Given the description of an element on the screen output the (x, y) to click on. 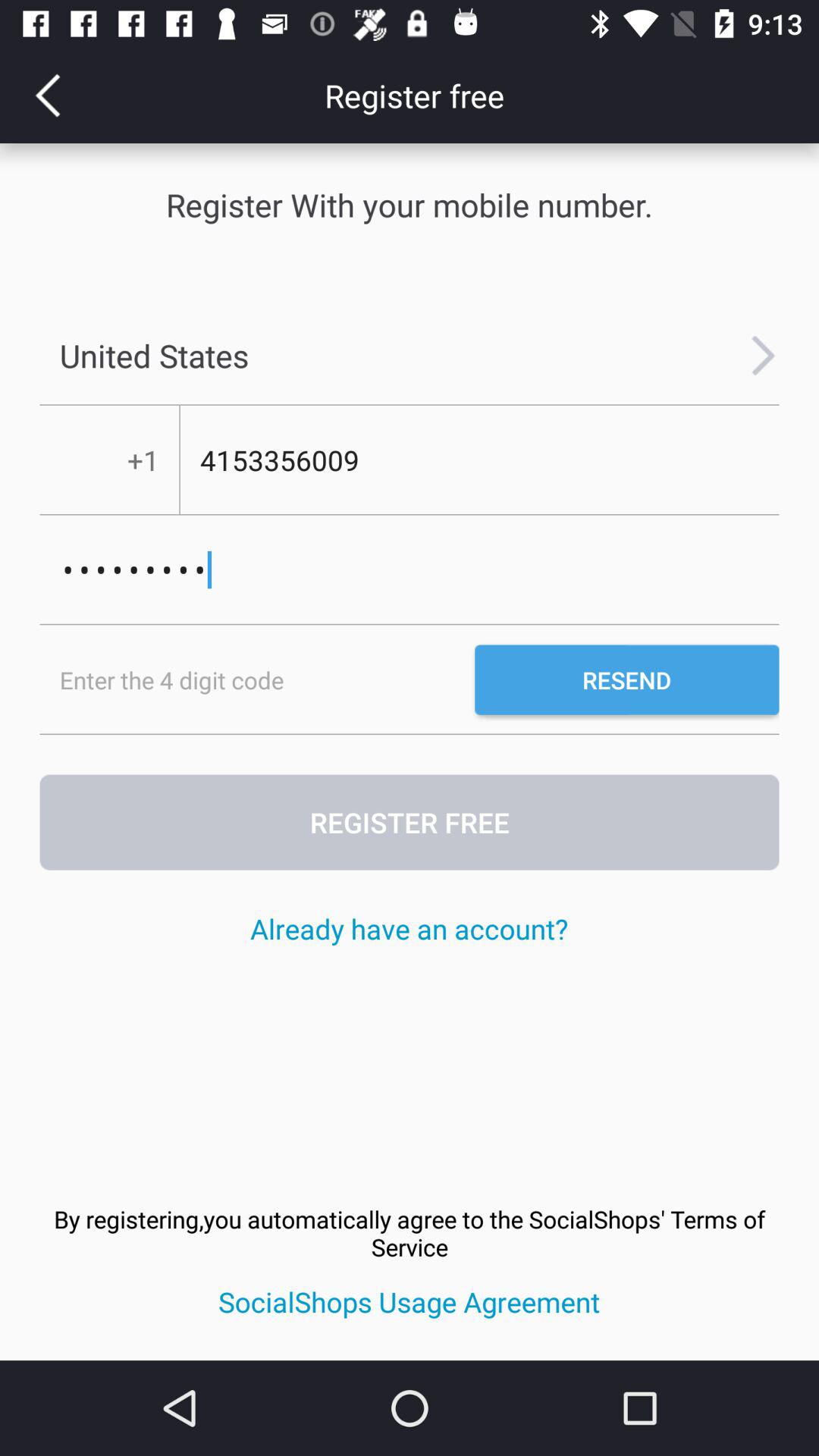
choose already have an icon (409, 928)
